Given the description of an element on the screen output the (x, y) to click on. 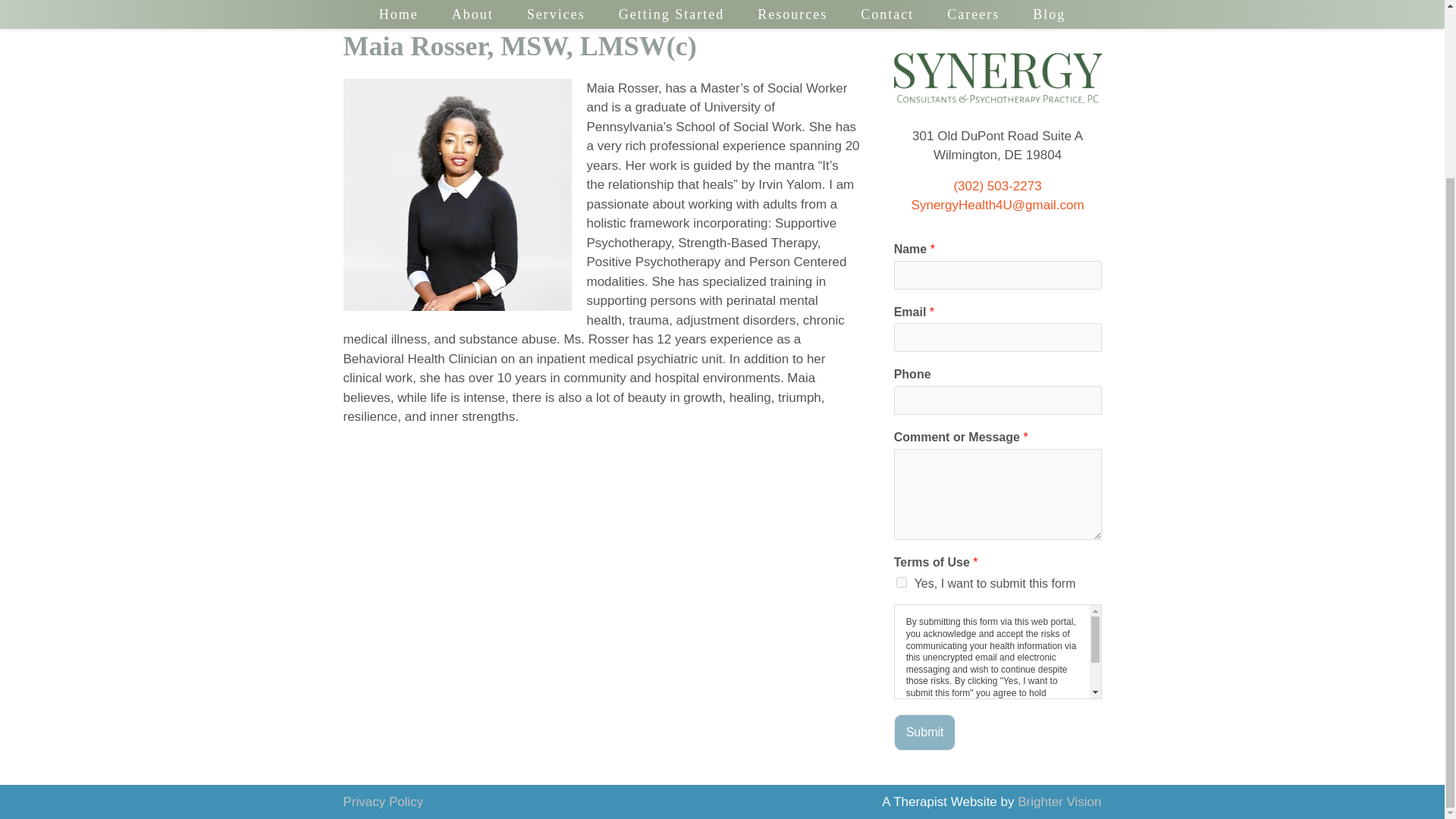
Yes, I want to submit this form (901, 582)
